Given the description of an element on the screen output the (x, y) to click on. 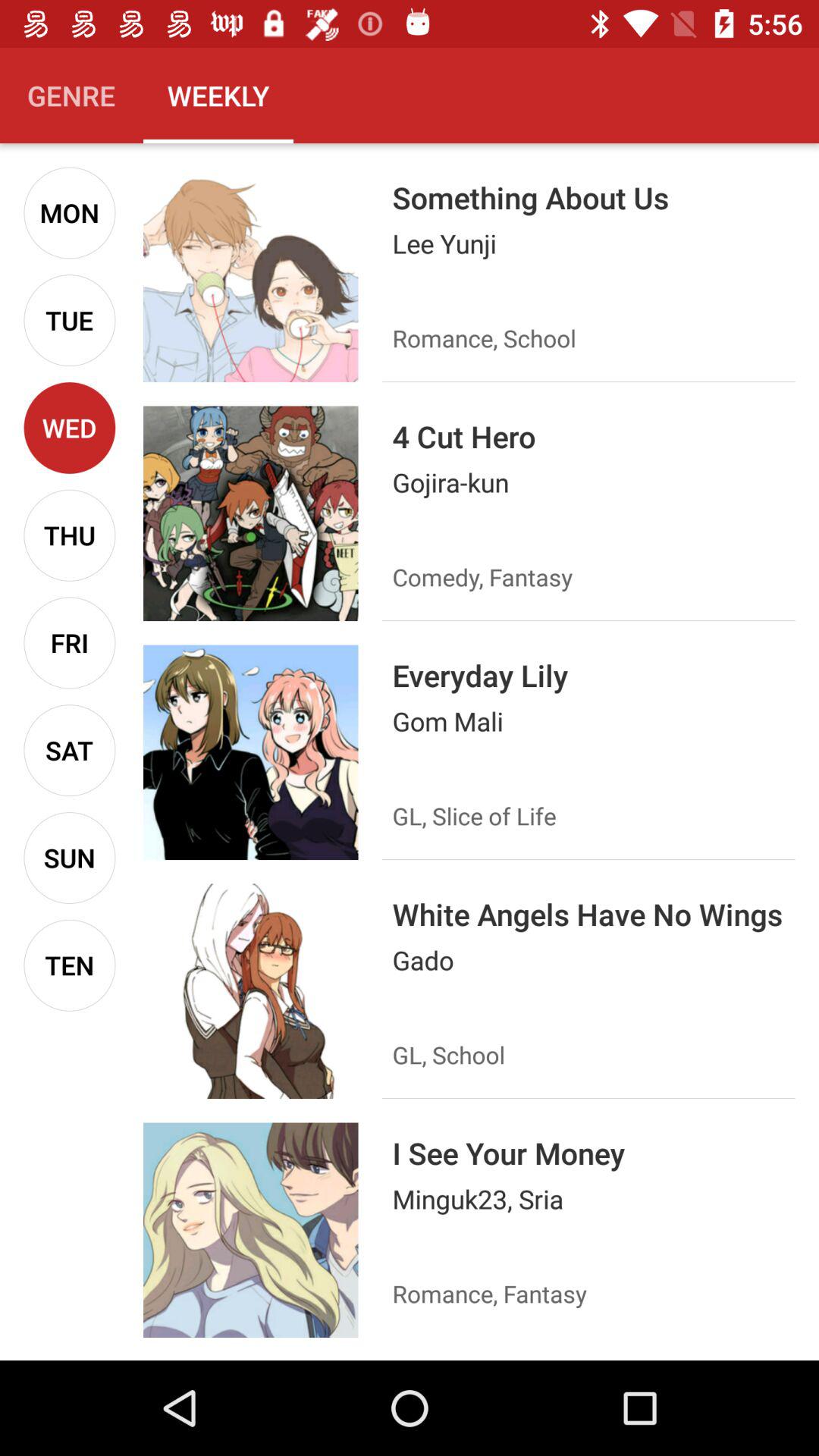
launch sat (69, 750)
